Given the description of an element on the screen output the (x, y) to click on. 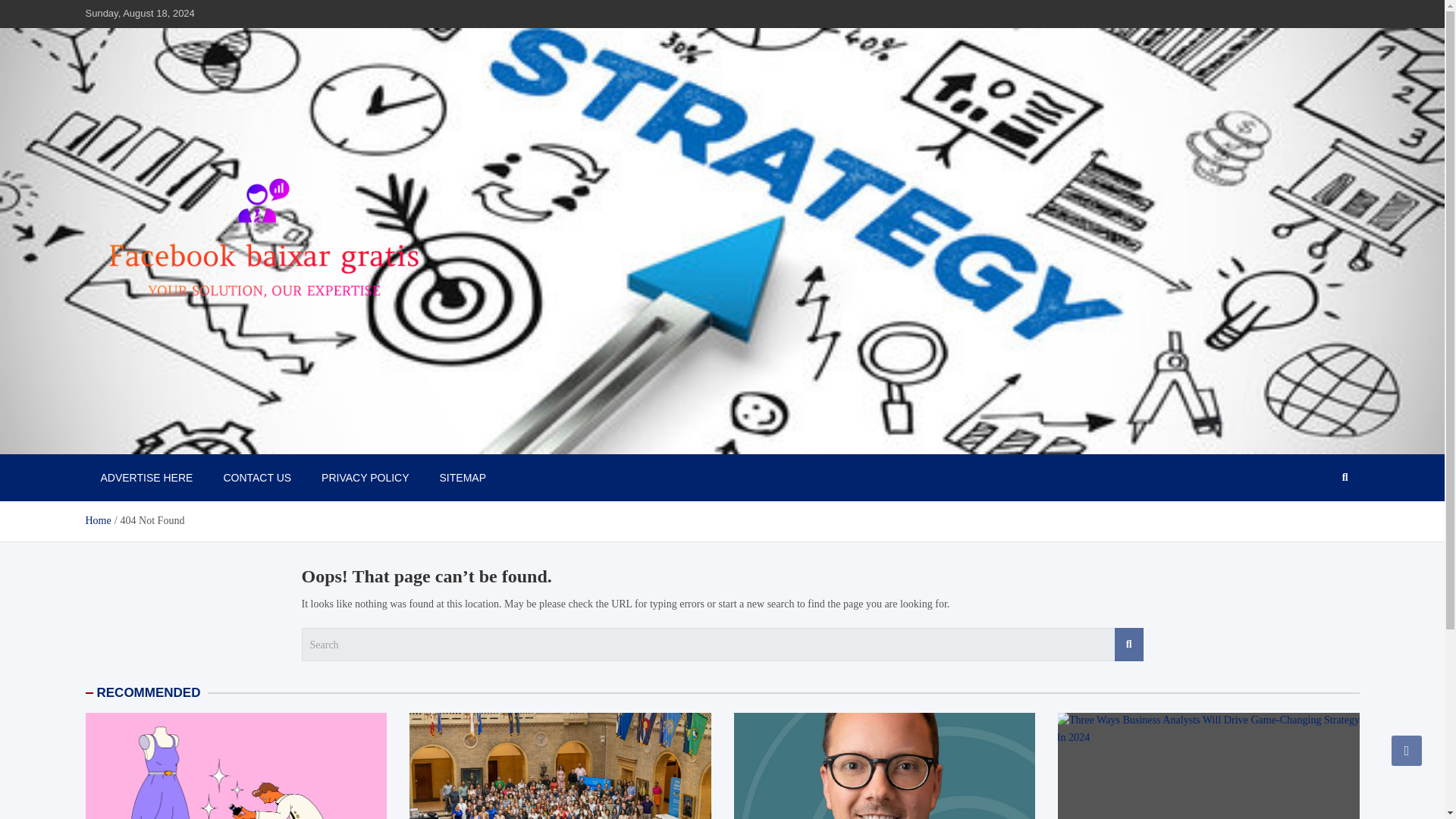
Facebook baixar gratis (203, 437)
RECOMMENDED (148, 692)
Home (97, 520)
Go to Top (1406, 750)
CONTACT US (256, 477)
SITEMAP (462, 477)
ADVERTISE HERE (146, 477)
Digital Transformation Takes Root at USDA (559, 765)
